Given the description of an element on the screen output the (x, y) to click on. 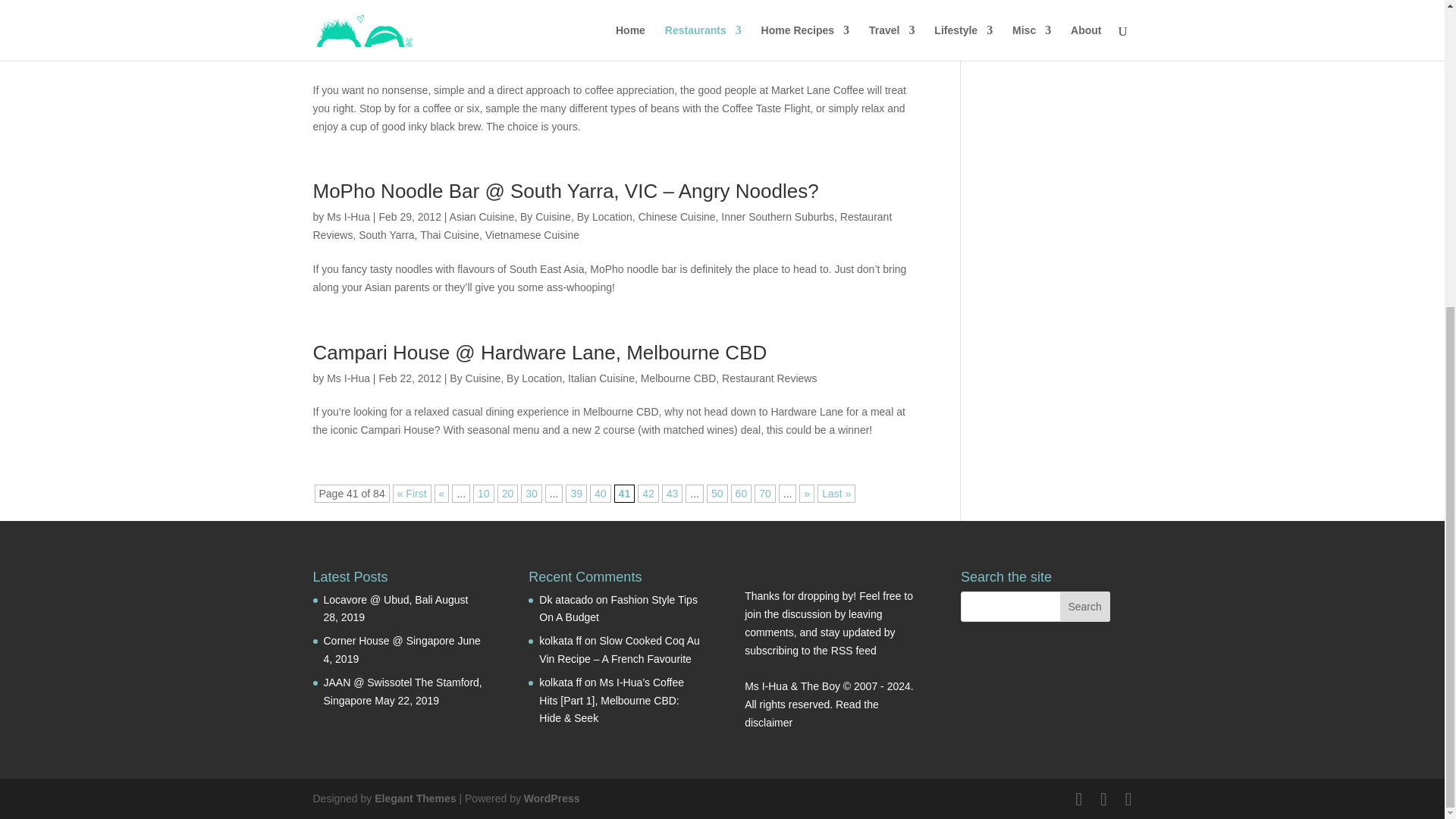
Page 60 (741, 493)
Search (1084, 606)
Page 70 (765, 493)
Page 50 (717, 493)
Page 40 (600, 493)
Page 43 (672, 493)
Posts by Ms I-Hua (347, 216)
Page 20 (507, 493)
Page 10 (484, 493)
Posts by Ms I-Hua (347, 378)
Page 30 (531, 493)
Page 42 (648, 493)
Posts by Ms I-Hua (347, 37)
Page 39 (576, 493)
